Given the description of an element on the screen output the (x, y) to click on. 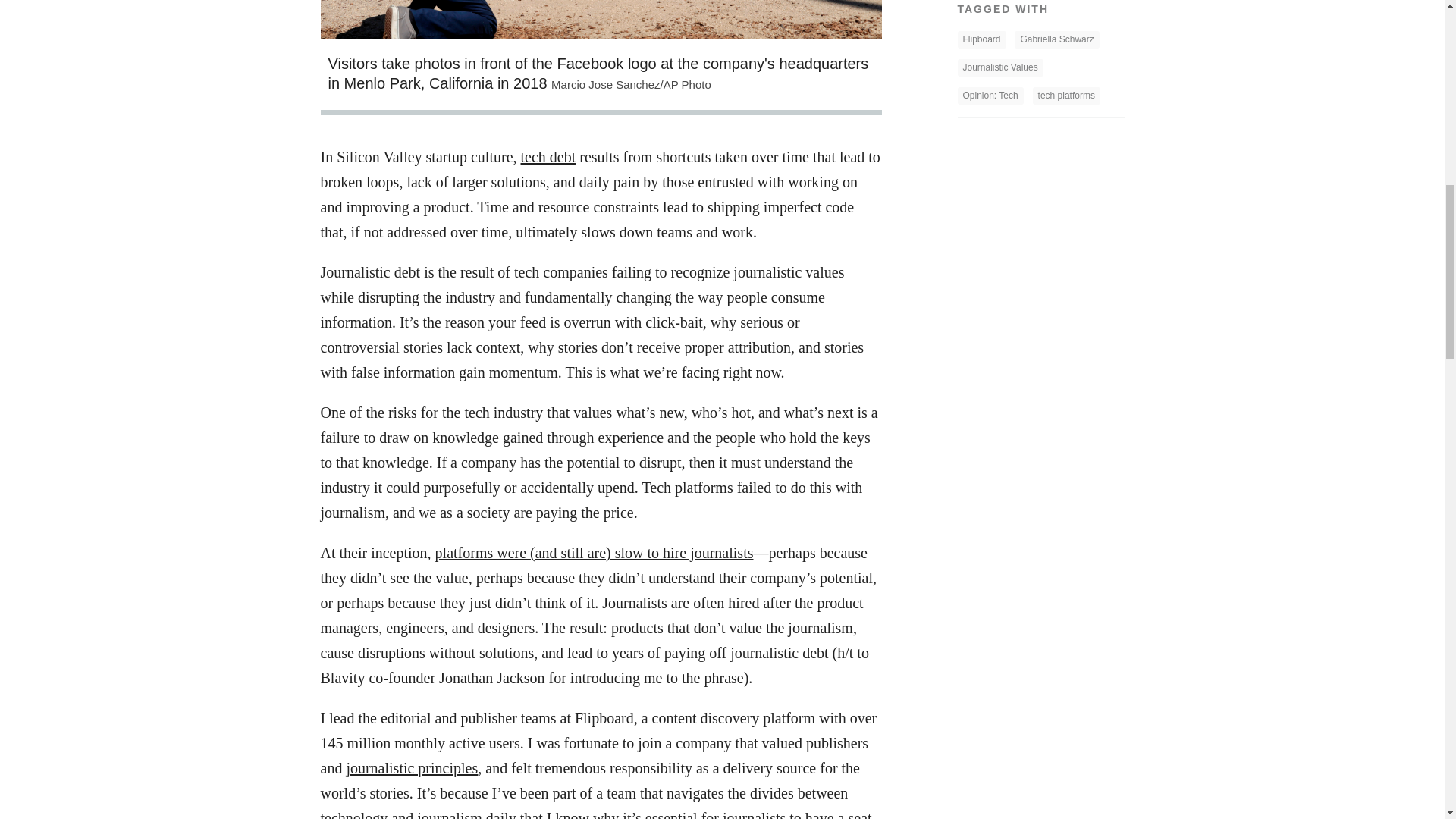
Flipboard (981, 39)
